Given the description of an element on the screen output the (x, y) to click on. 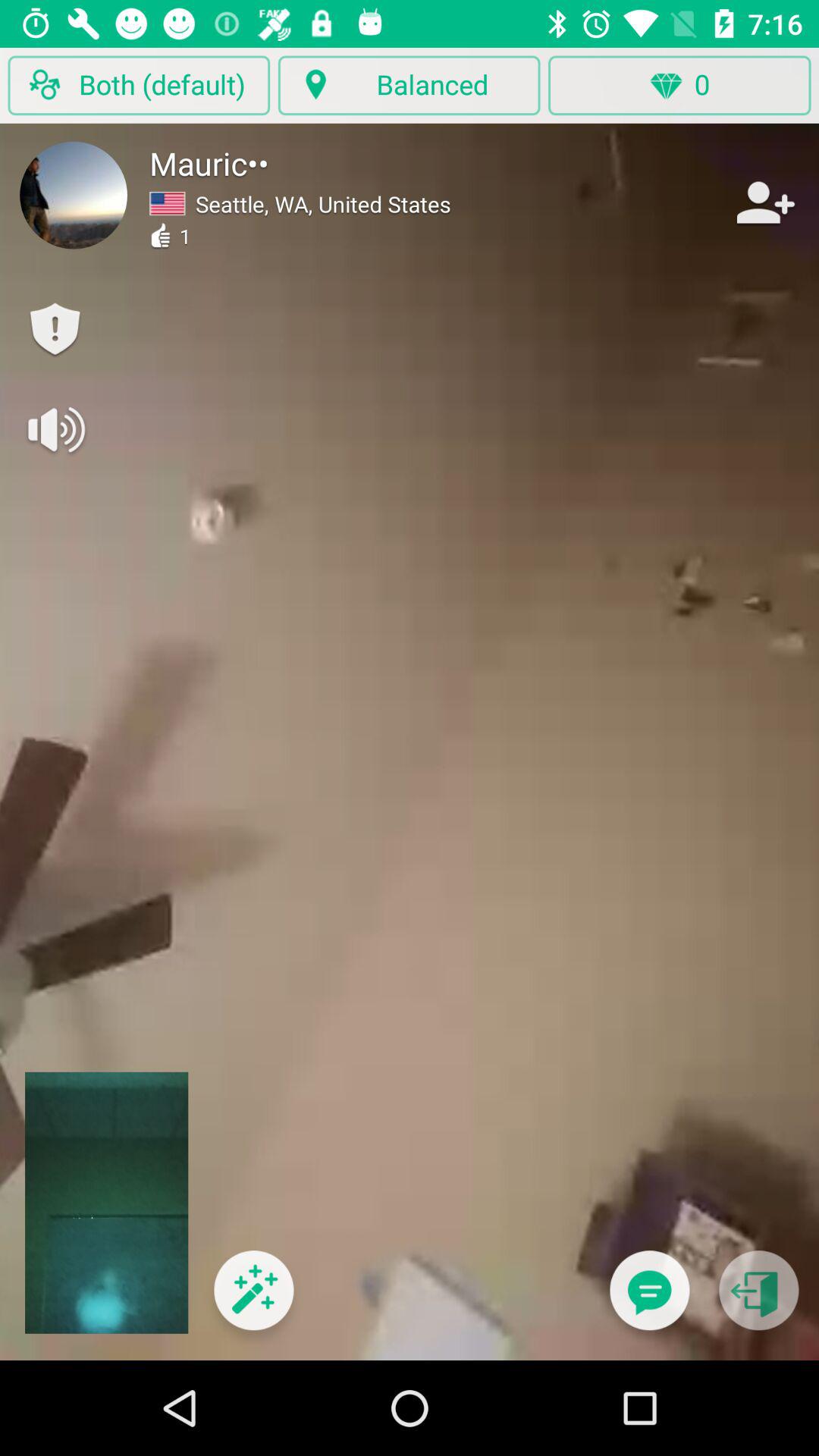
switch to message (649, 1300)
